Given the description of an element on the screen output the (x, y) to click on. 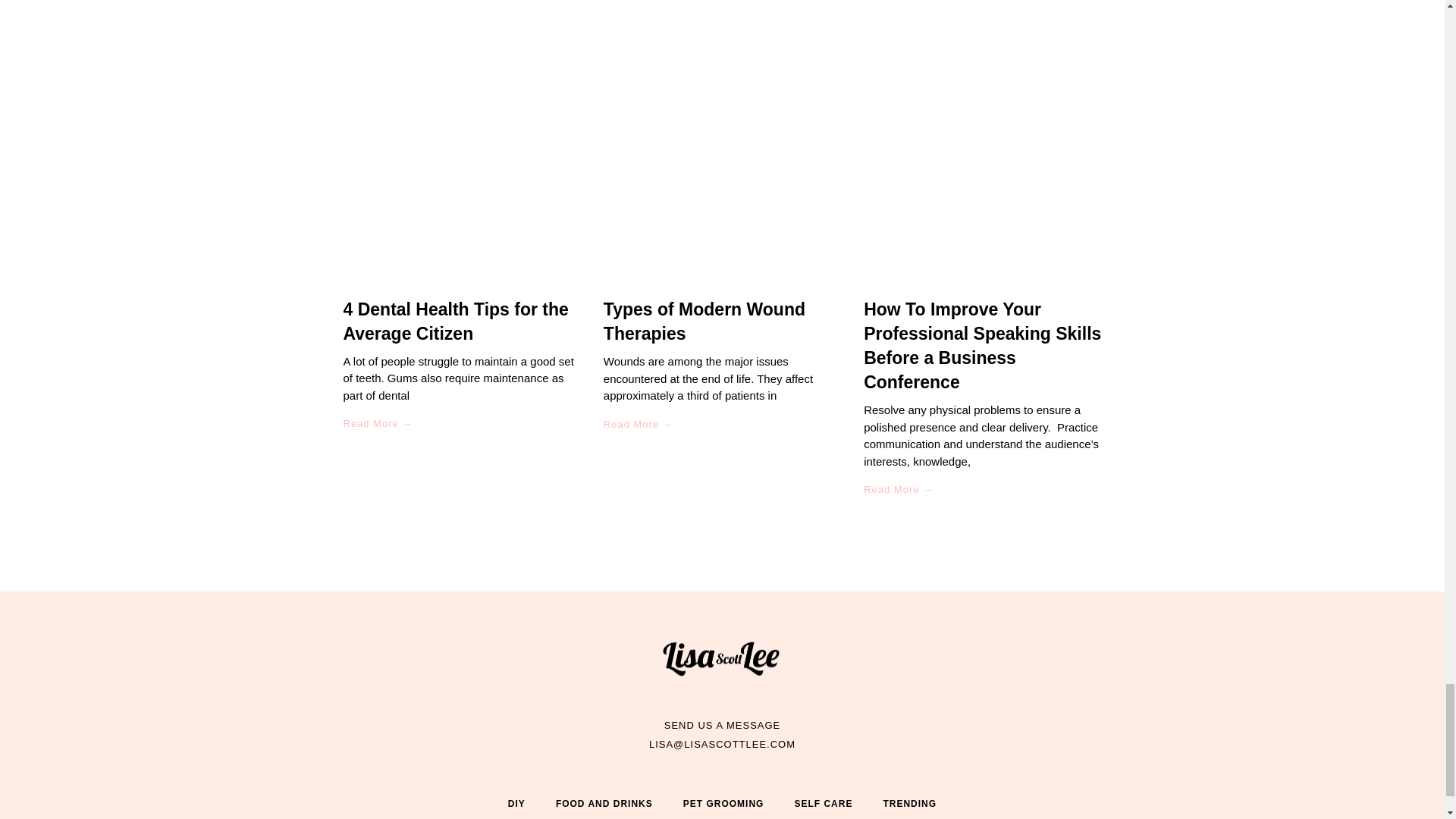
4 Dental Health Tips for the Average Citizen (454, 320)
PET GROOMING (723, 802)
FOOD AND DRINKS (604, 802)
DIY (516, 802)
Types of Modern Wound Therapies (704, 321)
